Given the description of an element on the screen output the (x, y) to click on. 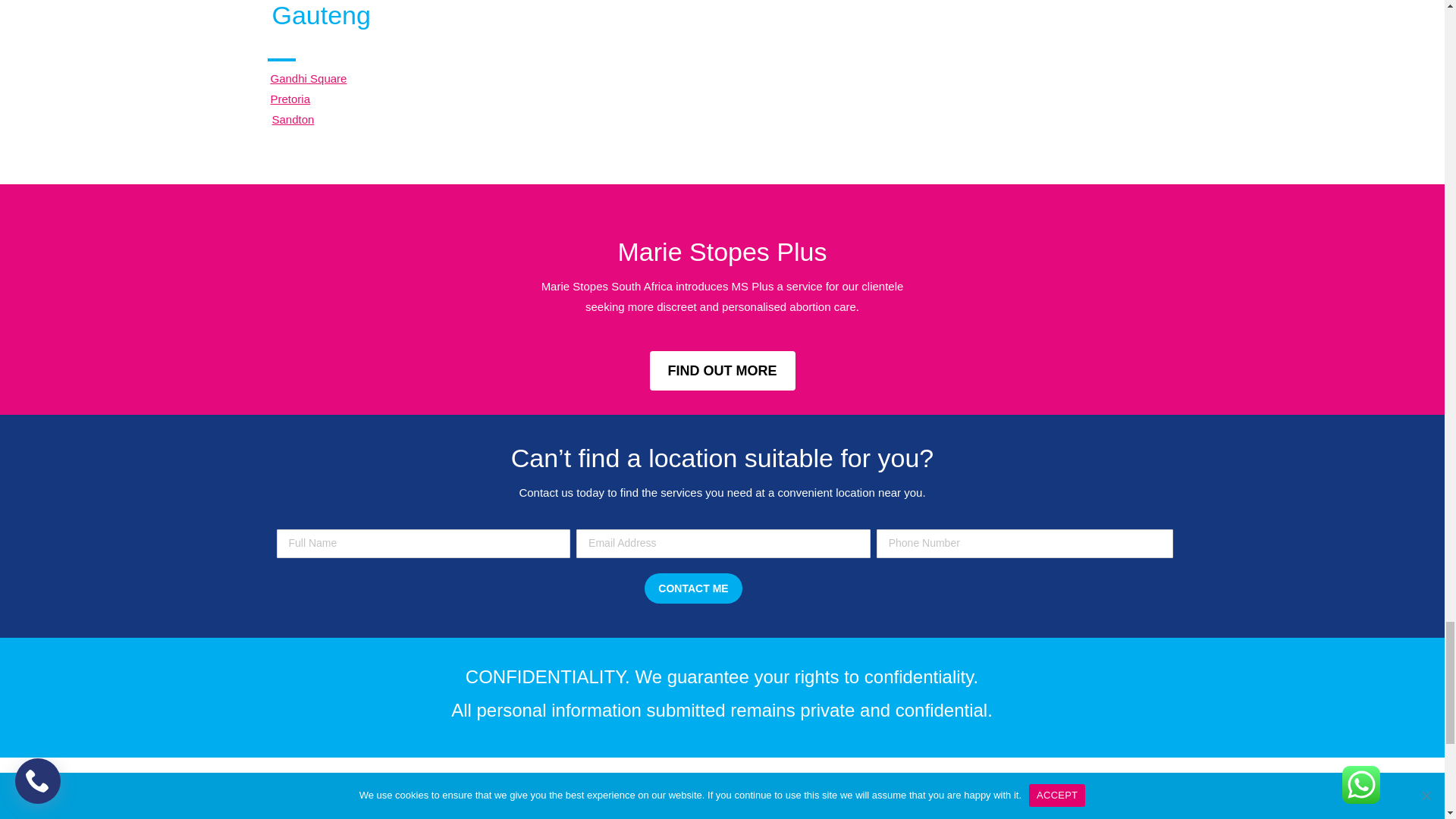
CONTACT ME (693, 588)
